Given the description of an element on the screen output the (x, y) to click on. 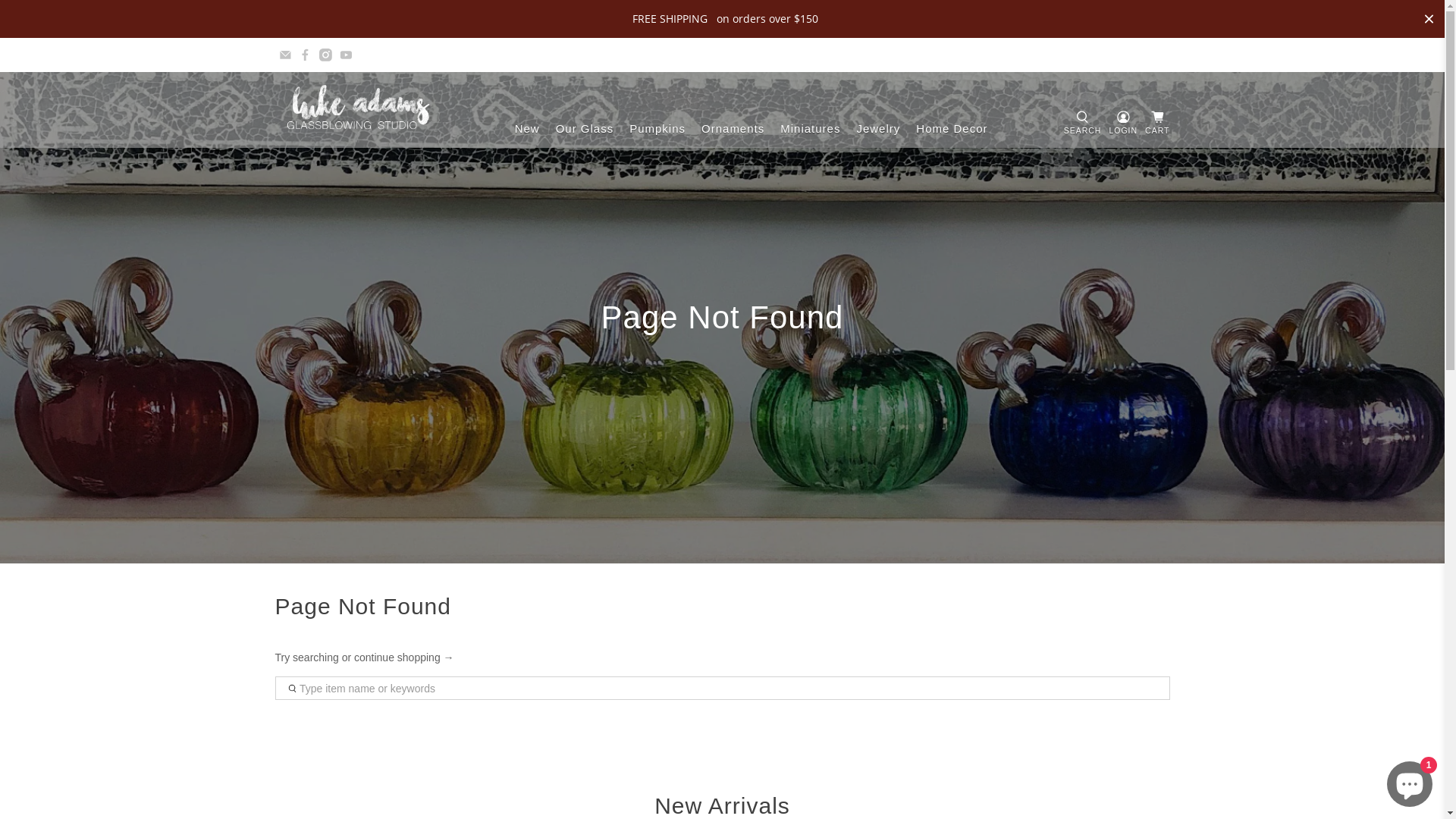
SEARCH Element type: text (1082, 109)
Shopify online store chat Element type: hover (1409, 780)
Email Luke Adams Glass Blowing Studio Element type: hover (285, 54)
Luke Adams Glass Blowing Studio on YouTube Element type: hover (345, 54)
New Arrivals Element type: text (722, 805)
CART Element type: text (1157, 124)
New Element type: text (526, 128)
Luke Adams Glass Blowing Studio on Facebook Element type: hover (304, 54)
Our Glass Element type: text (584, 128)
Pumpkins Element type: text (657, 128)
Luke Adams Glass Blowing Studio Element type: hover (358, 109)
Jewelry Element type: text (878, 128)
Miniatures Element type: text (810, 128)
Home Decor Element type: text (951, 128)
LOGIN Element type: text (1122, 109)
Ornaments Element type: text (732, 128)
Luke Adams Glass Blowing Studio on Instagram Element type: hover (325, 54)
